Given the description of an element on the screen output the (x, y) to click on. 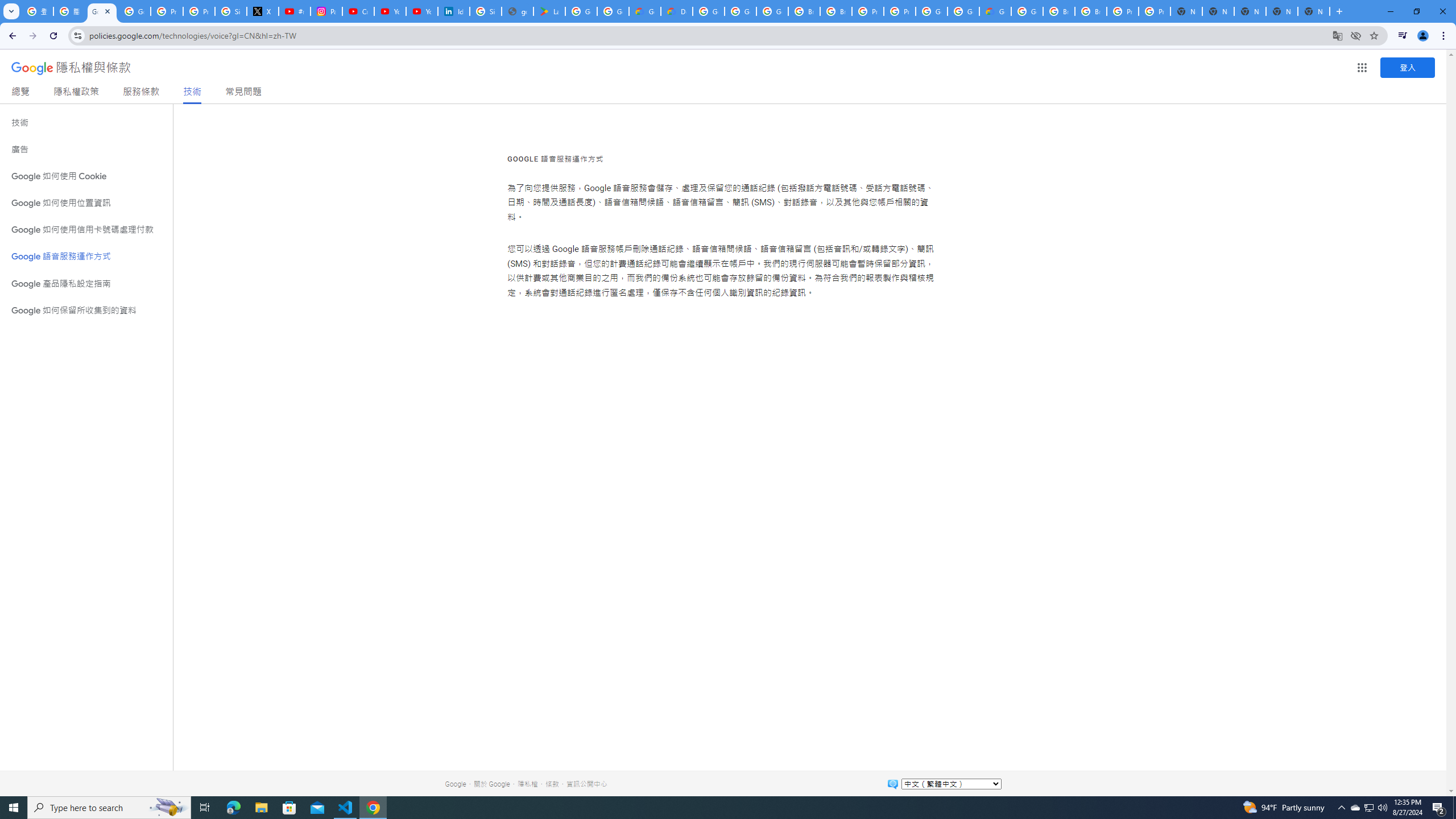
Google Workspace - Specific Terms (613, 11)
New Tab (1313, 11)
Google Cloud Estimate Summary (995, 11)
Government | Google Cloud (644, 11)
Google Cloud Platform (963, 11)
